Given the description of an element on the screen output the (x, y) to click on. 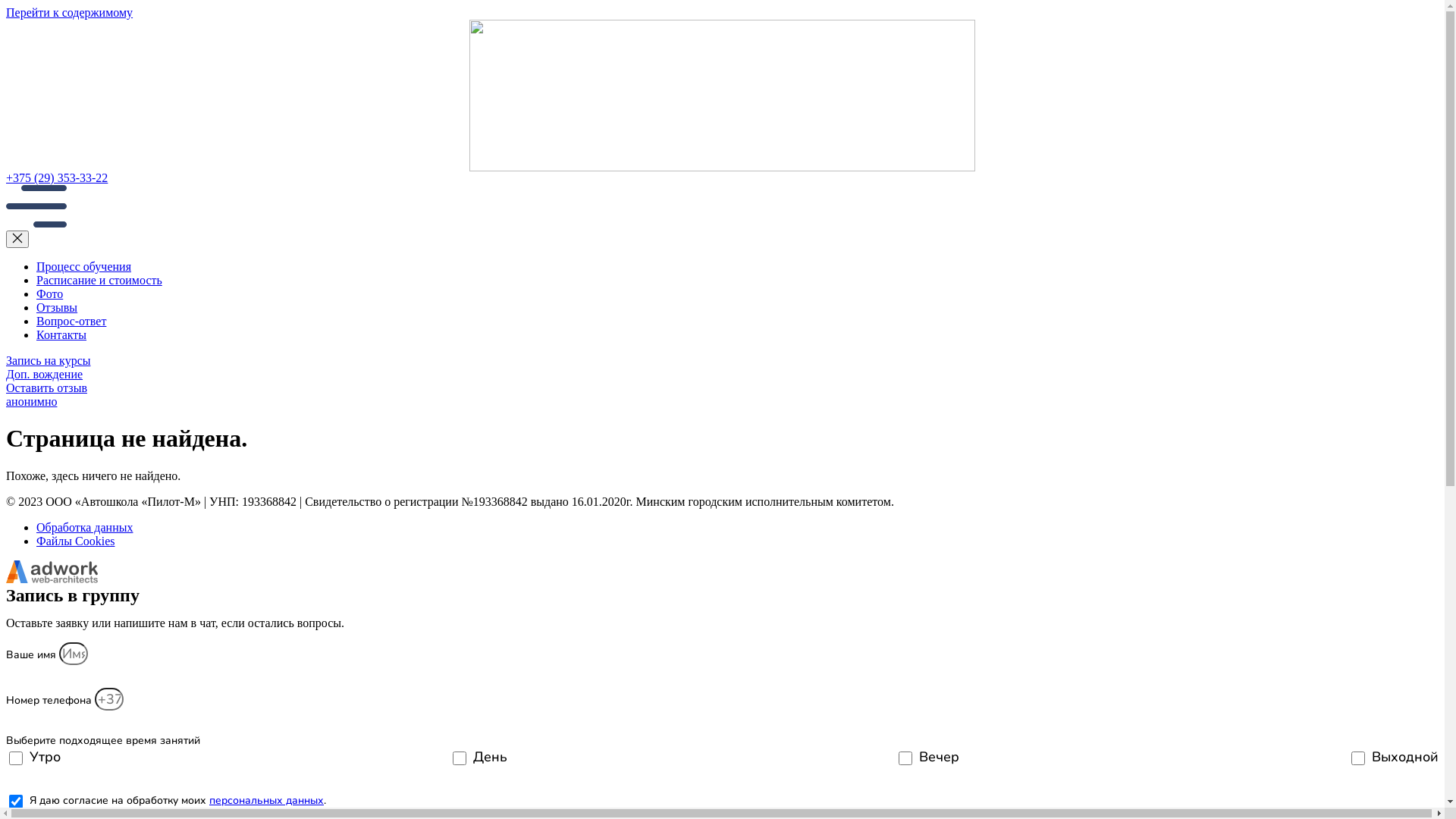
+375 (29) 353-33-22 Element type: text (722, 178)
Untitled 35 Element type: text (36, 222)
